Given the description of an element on the screen output the (x, y) to click on. 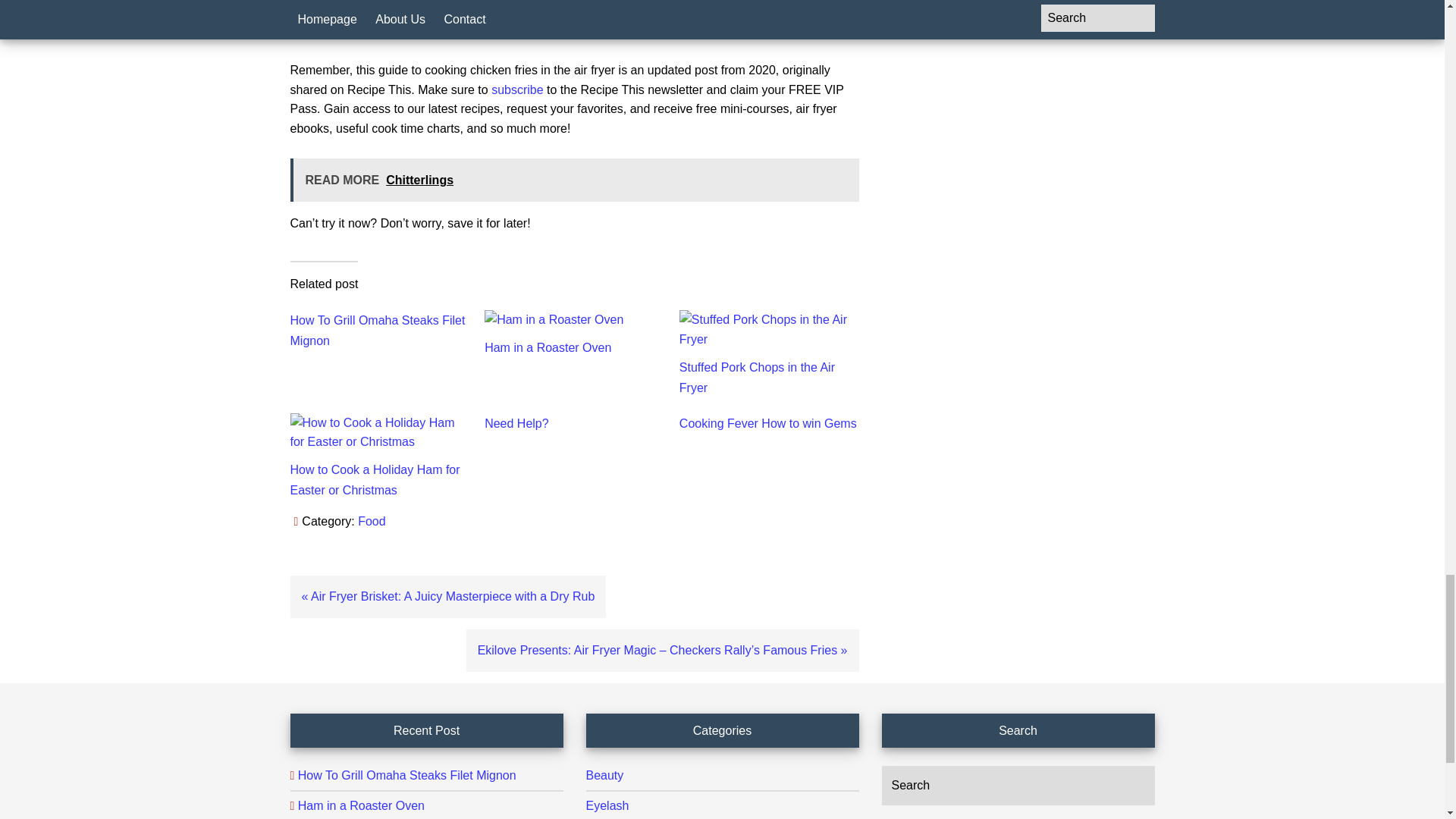
Need Help? (516, 422)
Cooking Fever How to win Gems (768, 422)
Food (371, 521)
READ MORE  Chitterlings (574, 180)
How to Cook a Holiday Ham for Easter or Christmas (374, 479)
How To Grill Omaha Steaks Filet Mignon (376, 330)
Ham in a Roaster Oven (547, 347)
Stuffed Pork Chops in the Air Fryer (756, 377)
subscribe (517, 89)
